Given the description of an element on the screen output the (x, y) to click on. 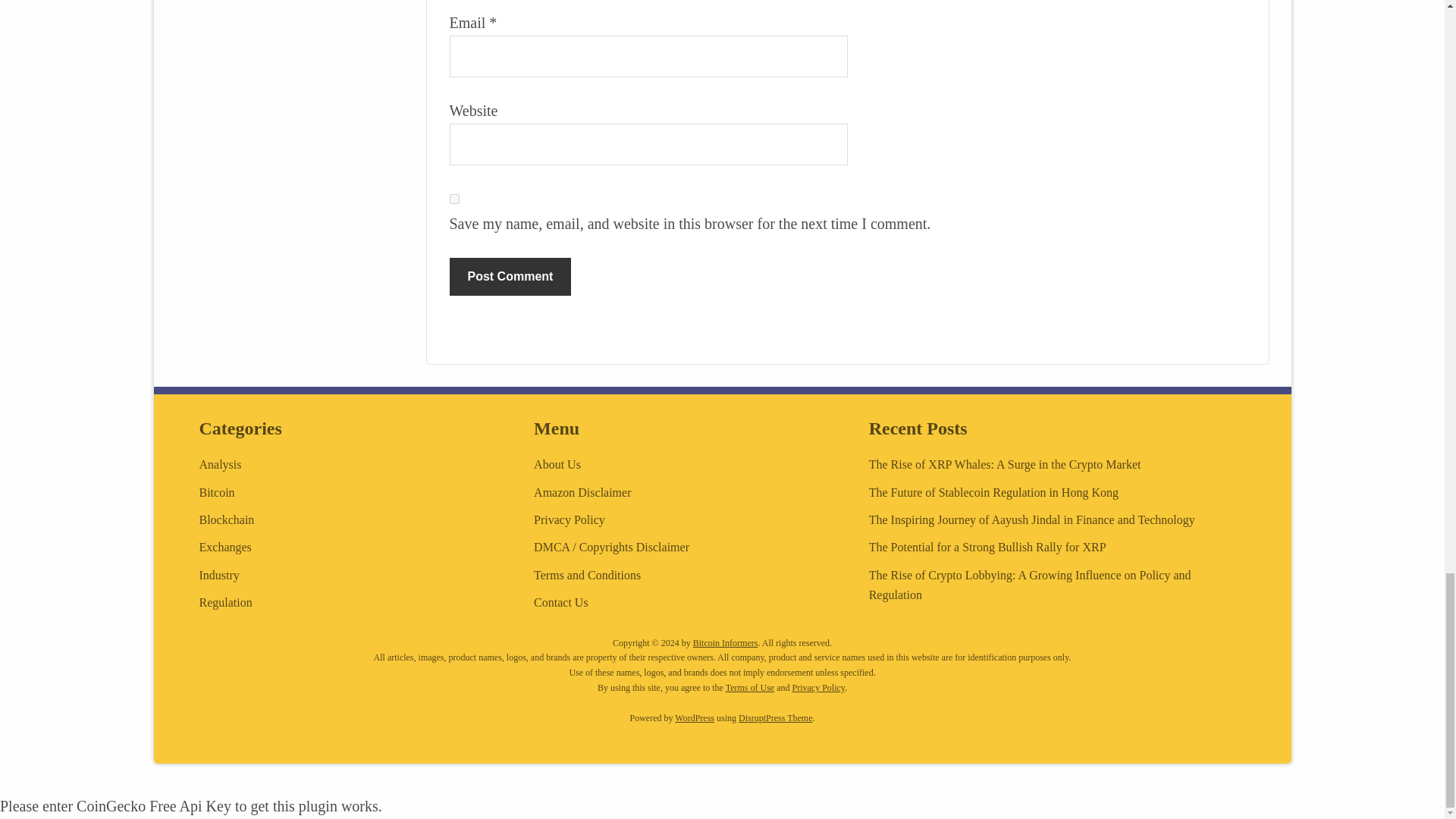
Post Comment (509, 276)
yes (453, 198)
